Given the description of an element on the screen output the (x, y) to click on. 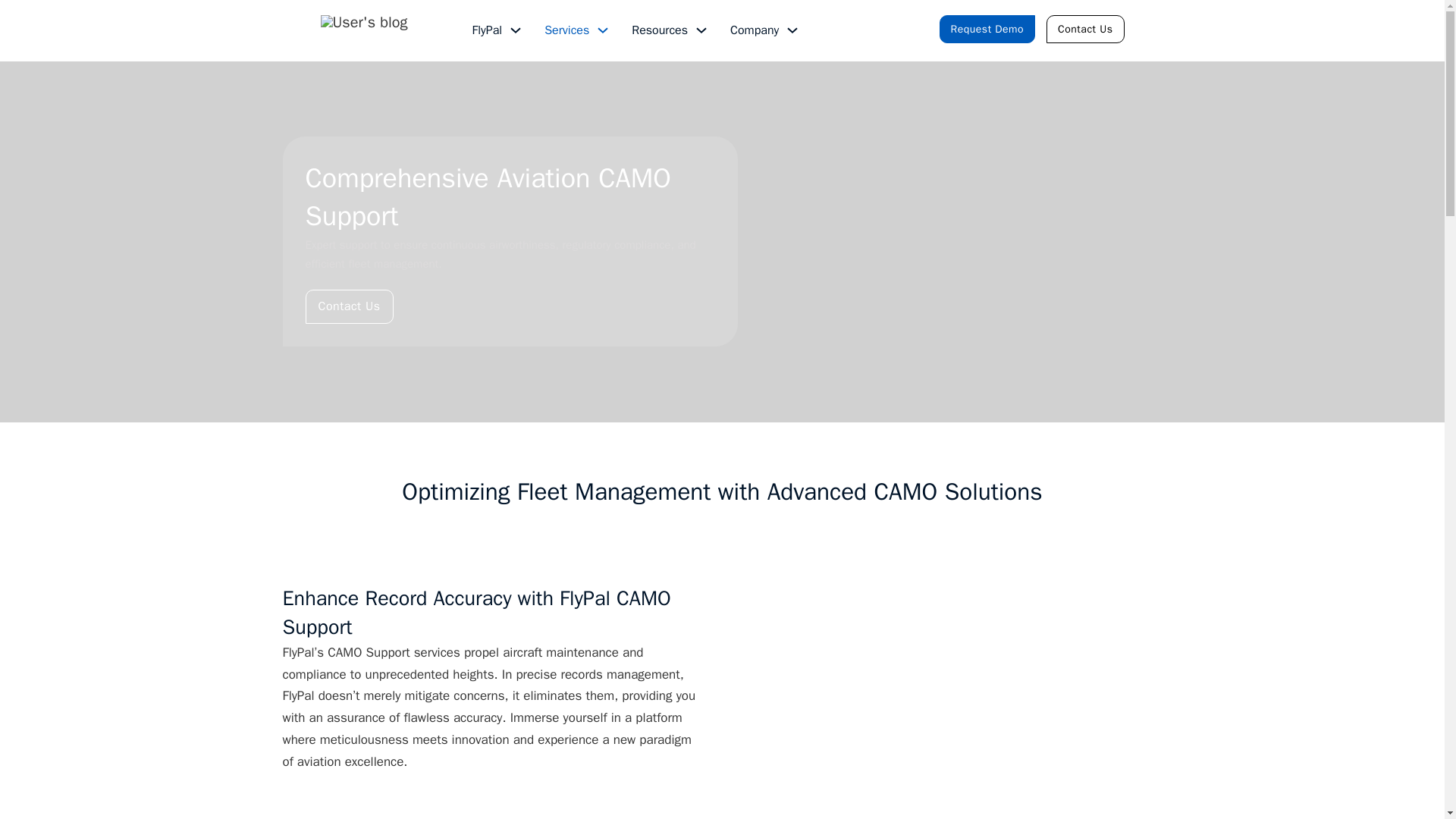
FlyPal (486, 30)
Company (754, 30)
Services (566, 30)
Resources (659, 30)
